Given the description of an element on the screen output the (x, y) to click on. 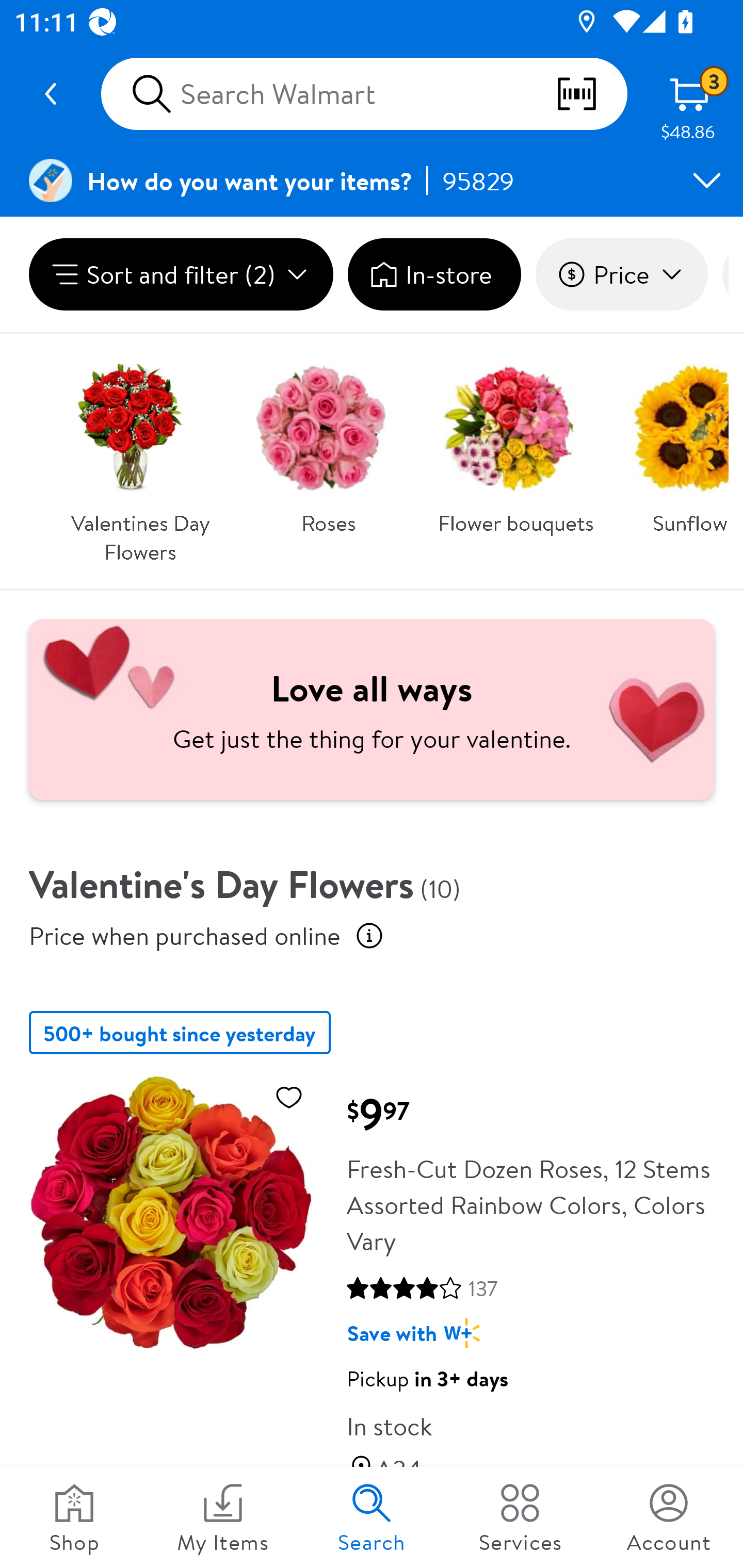
Navigate up (50, 93)
Search Walmart scan barcodes qr codes and more (364, 94)
scan barcodes qr codes and more (591, 94)
Filter by In-store, applied,  Filter icon In-store (433, 274)
Search by Roses Roses (327, 442)
Search by Flower bouquets Flower bouquets (515, 442)
Search by Sunflowers Sunflowers (672, 442)
Price when purchased online (184, 935)
Price when purchased online (369, 935)
Shop (74, 1517)
My Items (222, 1517)
Services (519, 1517)
Account (668, 1517)
